Given the description of an element on the screen output the (x, y) to click on. 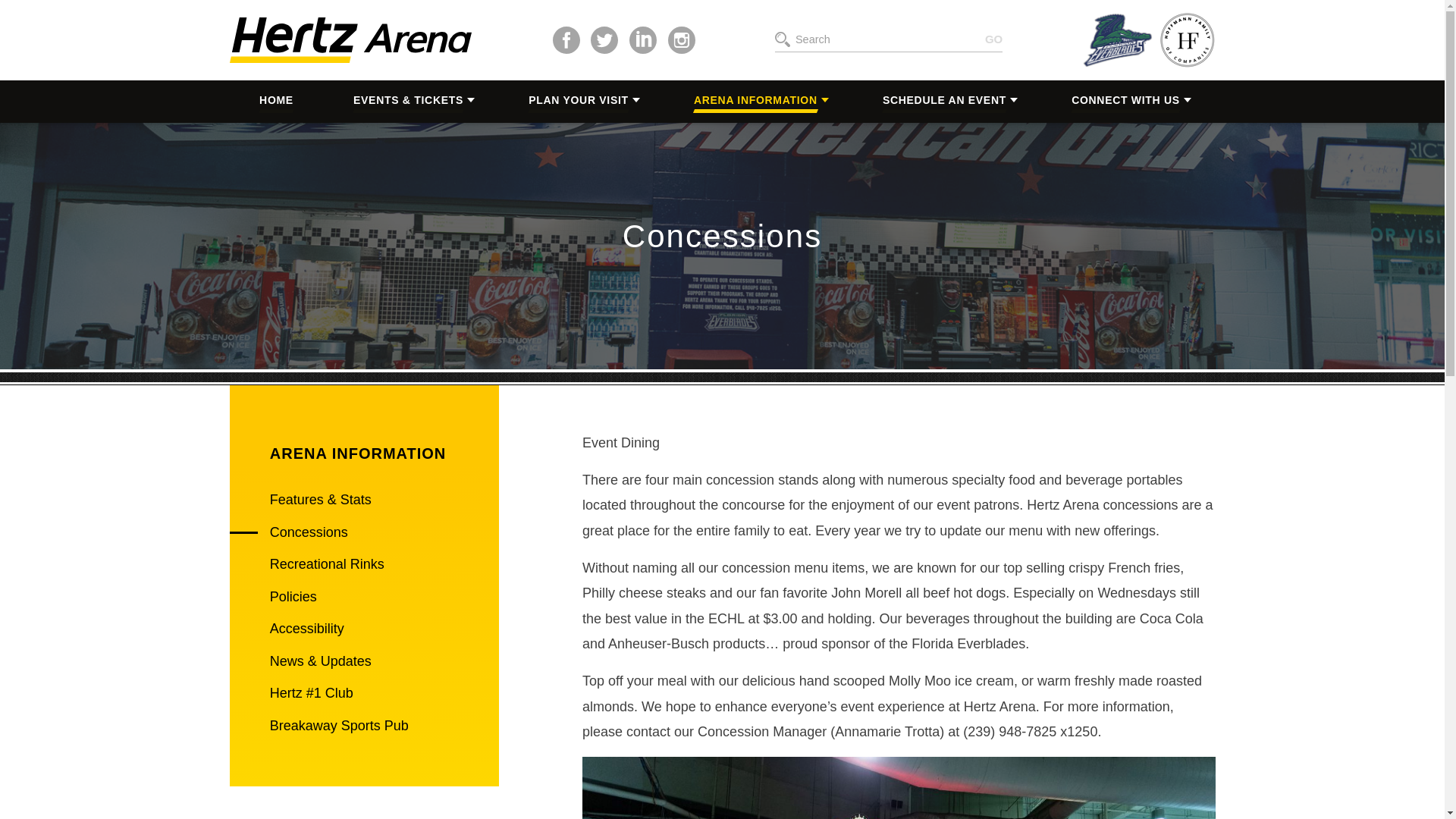
Facebook profile (566, 40)
Hertz Arena (349, 40)
LinkedIn profile (642, 40)
Florida Everblades (1117, 40)
Hoffmann Family of Companies (1187, 40)
Twitter profile (604, 40)
